Given the description of an element on the screen output the (x, y) to click on. 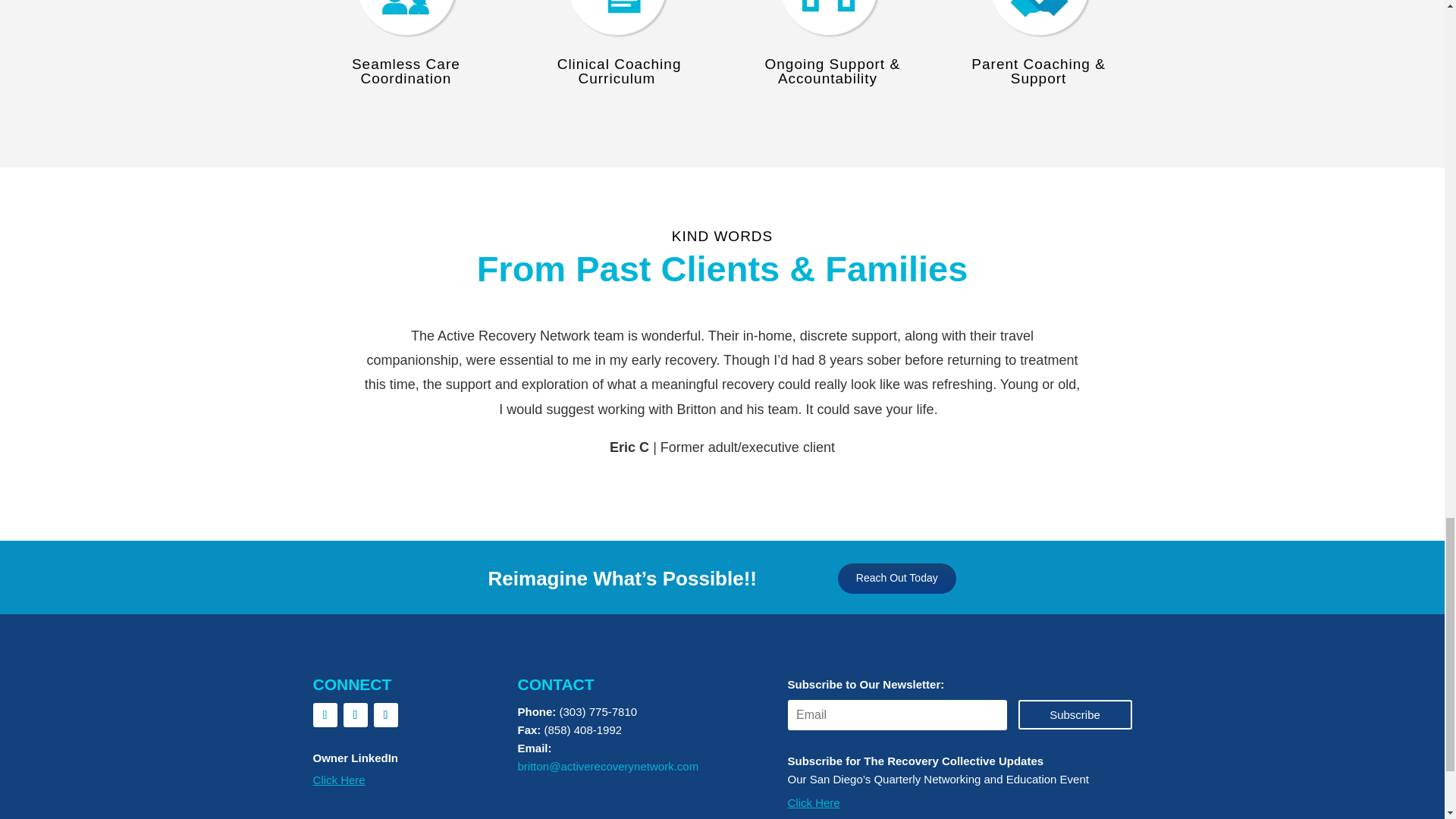
Follow on LinkedIn (384, 714)
hands (1038, 22)
chat2 (406, 22)
high5 (826, 22)
Follow on Instagram (354, 714)
Follow on Facebook (324, 714)
paper (615, 22)
